Given the description of an element on the screen output the (x, y) to click on. 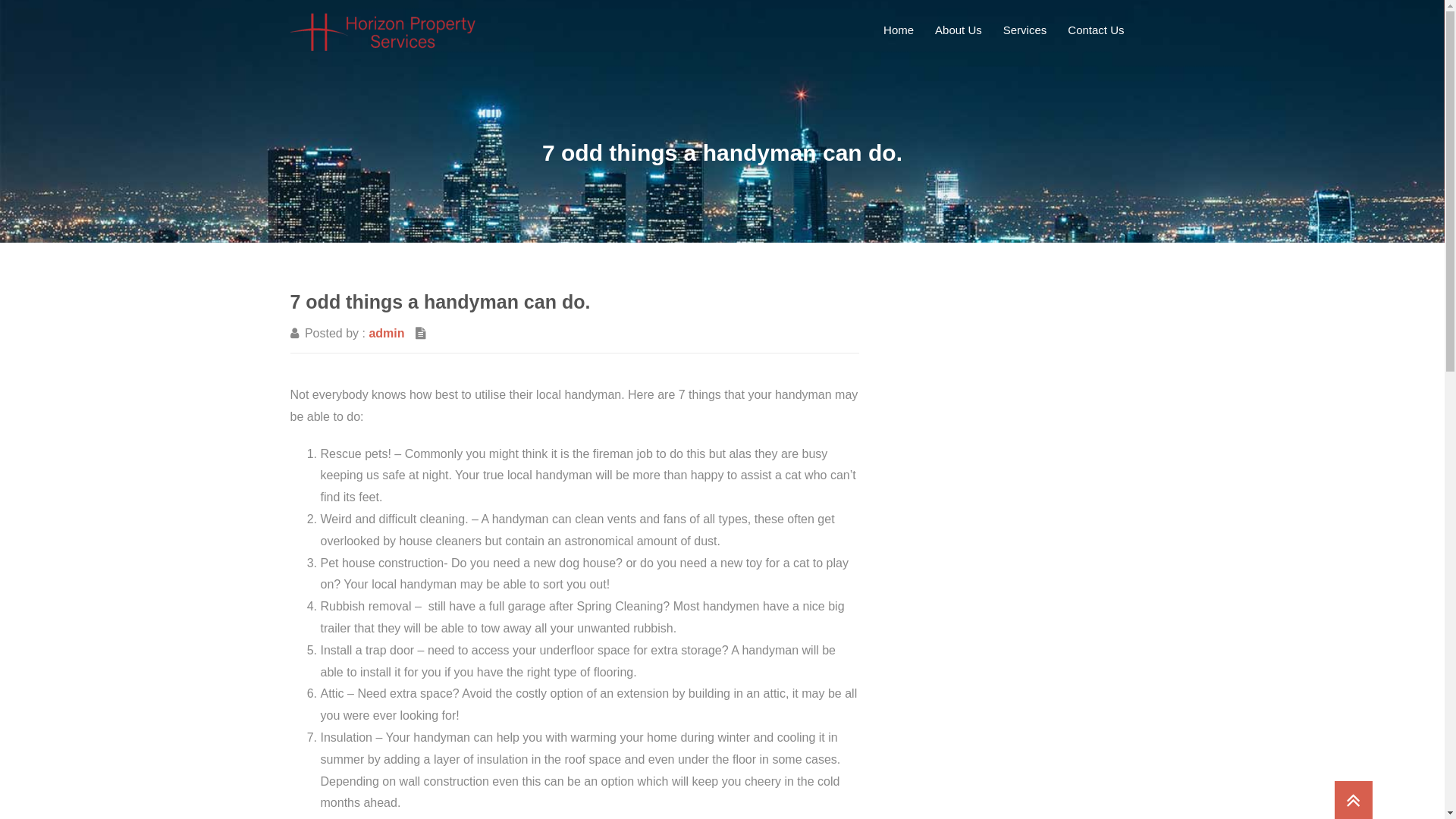
About Us Element type: text (958, 30)
admin Element type: text (386, 332)
Services Element type: text (1025, 30)
Home Element type: text (898, 30)
Contact Us Element type: text (1095, 30)
